Given the description of an element on the screen output the (x, y) to click on. 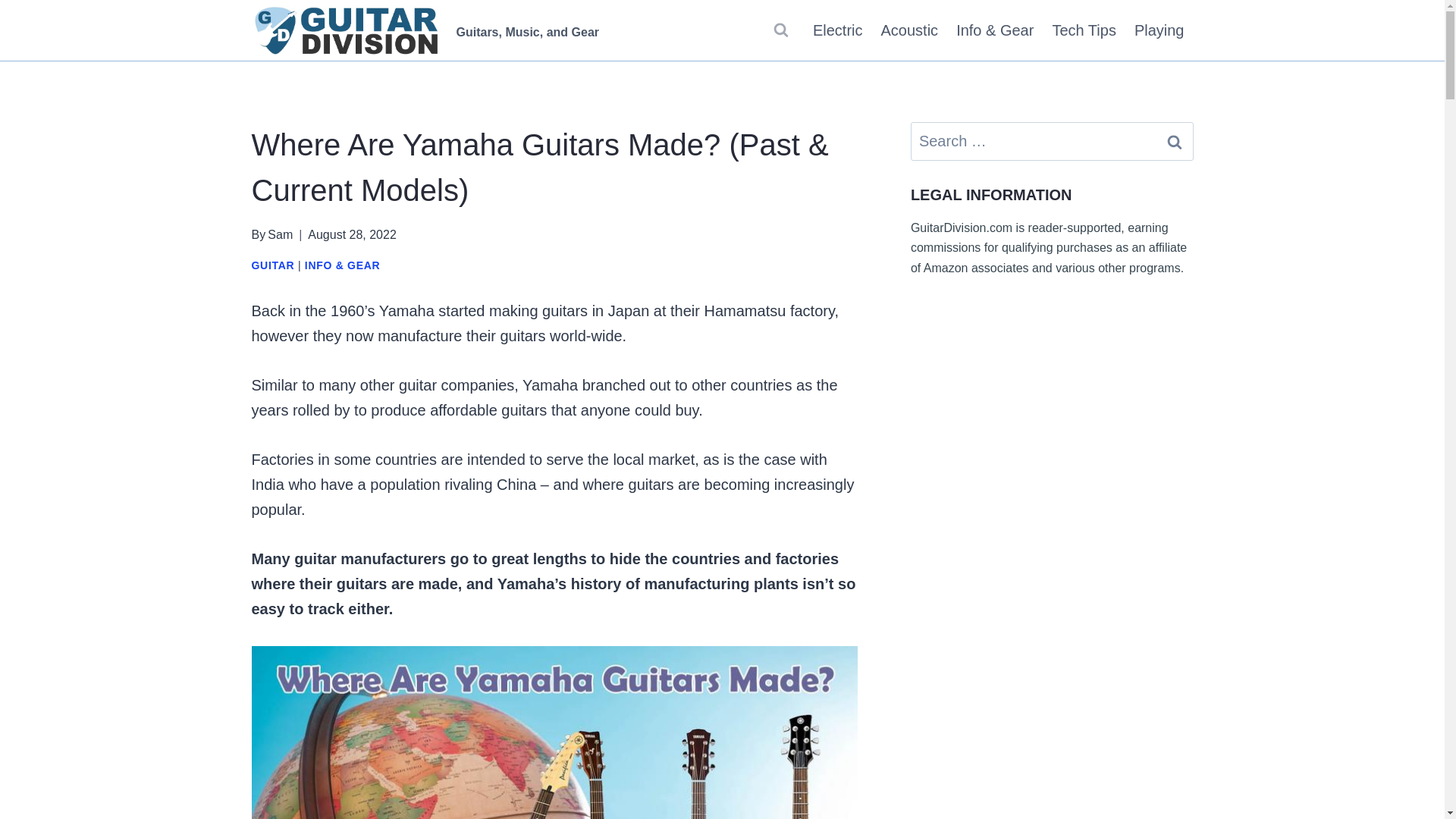
Playing (1159, 30)
Electric (837, 30)
Search (1174, 141)
Guitars, Music, and Gear (425, 29)
Acoustic (909, 30)
Search (1174, 141)
Tech Tips (1083, 30)
GUITAR (273, 265)
Search (1174, 141)
